Given the description of an element on the screen output the (x, y) to click on. 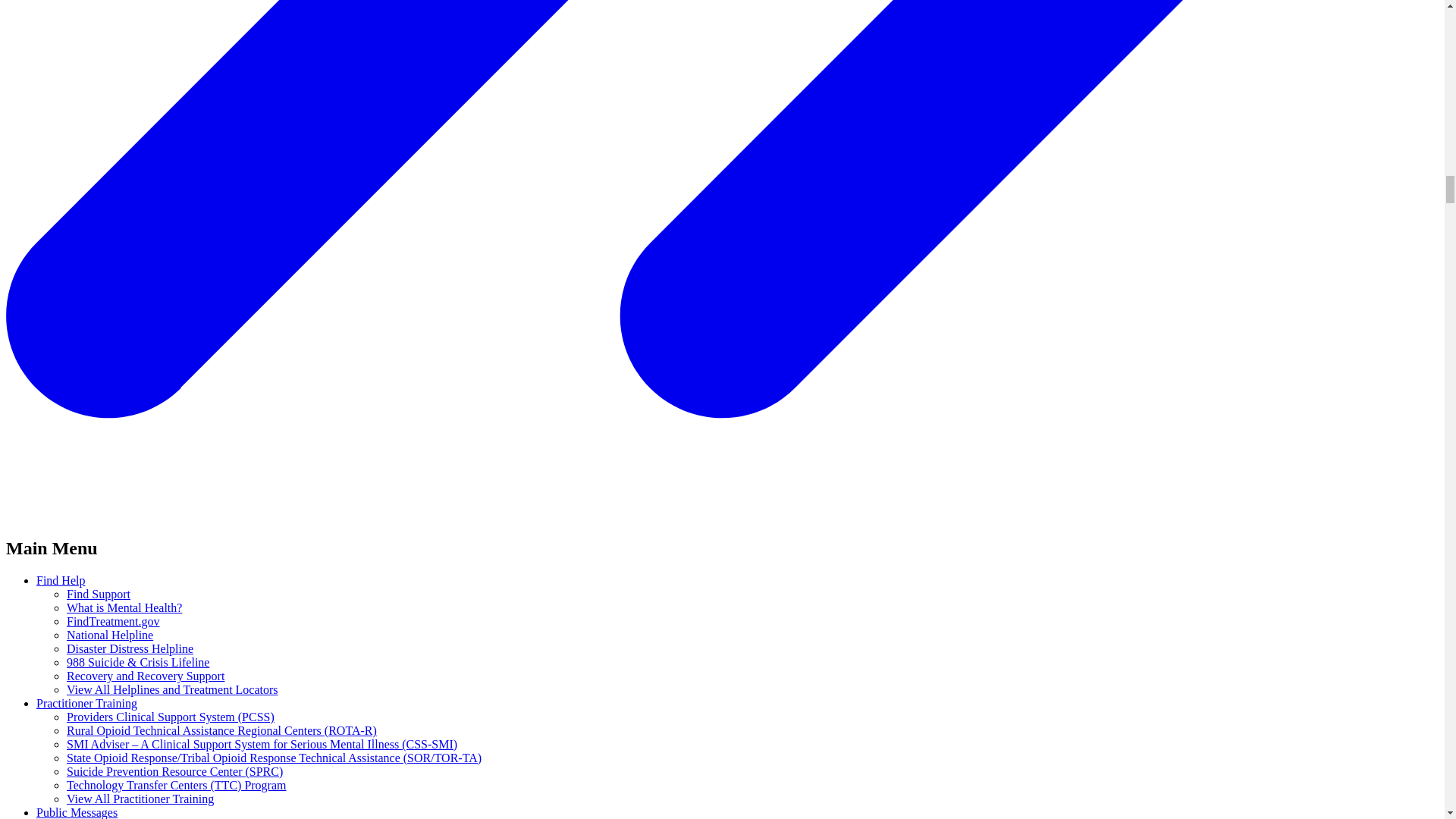
Public Messages (76, 812)
National Helpline (109, 634)
View All Helplines and Treatment Locators (172, 689)
Practitioner Training (86, 703)
What is Mental Health? (124, 607)
View All Practitioner Training (140, 798)
Find Help (60, 580)
Recovery and Recovery Support (145, 675)
Find Support (98, 594)
FindTreatment.gov (113, 621)
